Given the description of an element on the screen output the (x, y) to click on. 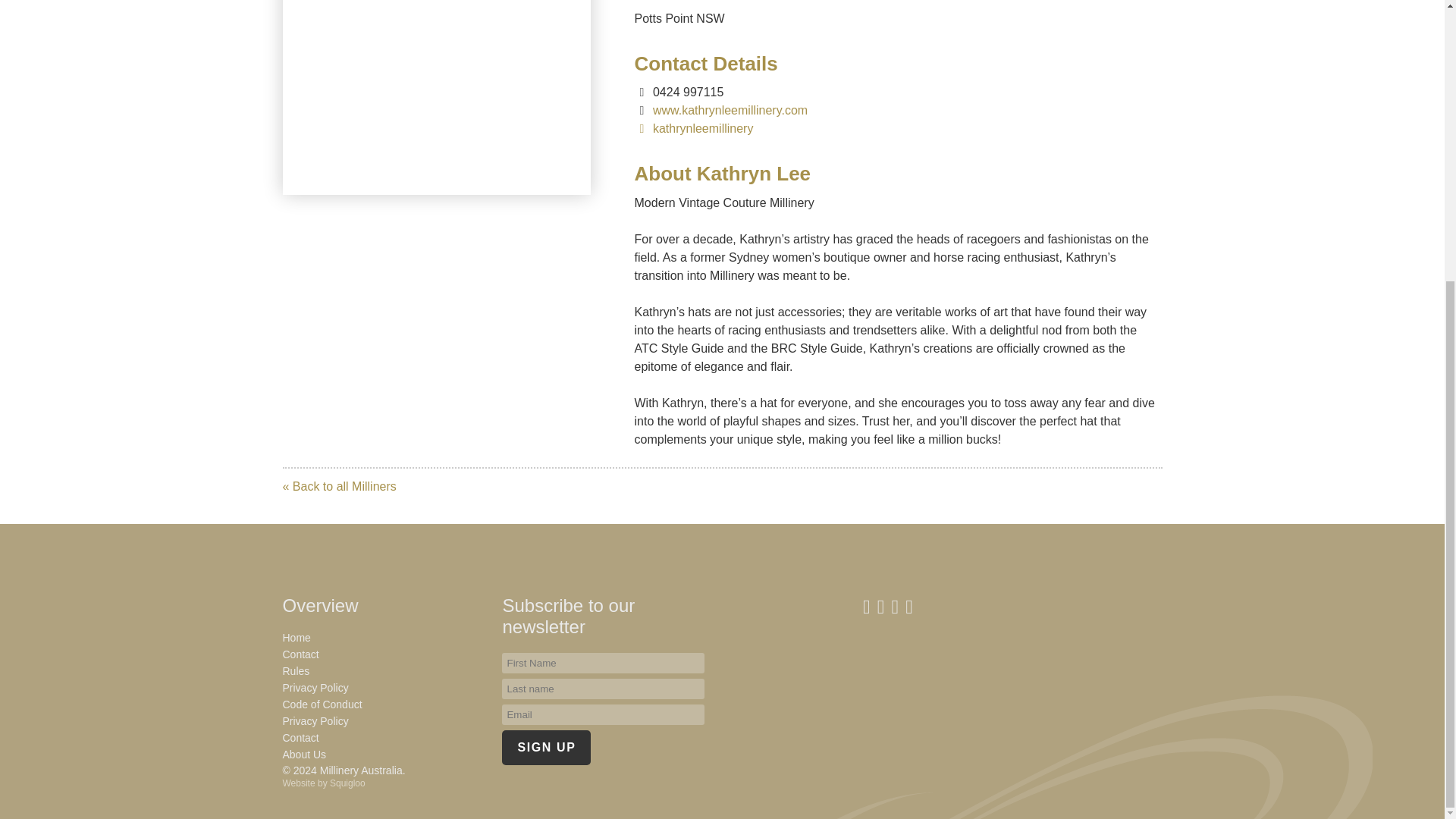
Sign Up (546, 747)
Kathryn Lee (435, 97)
Home (296, 637)
www.kathrynleemillinery.com (720, 110)
Rules (295, 671)
Contact (300, 654)
kathrynleemillinery (692, 128)
Privacy Policy (314, 687)
